Given the description of an element on the screen output the (x, y) to click on. 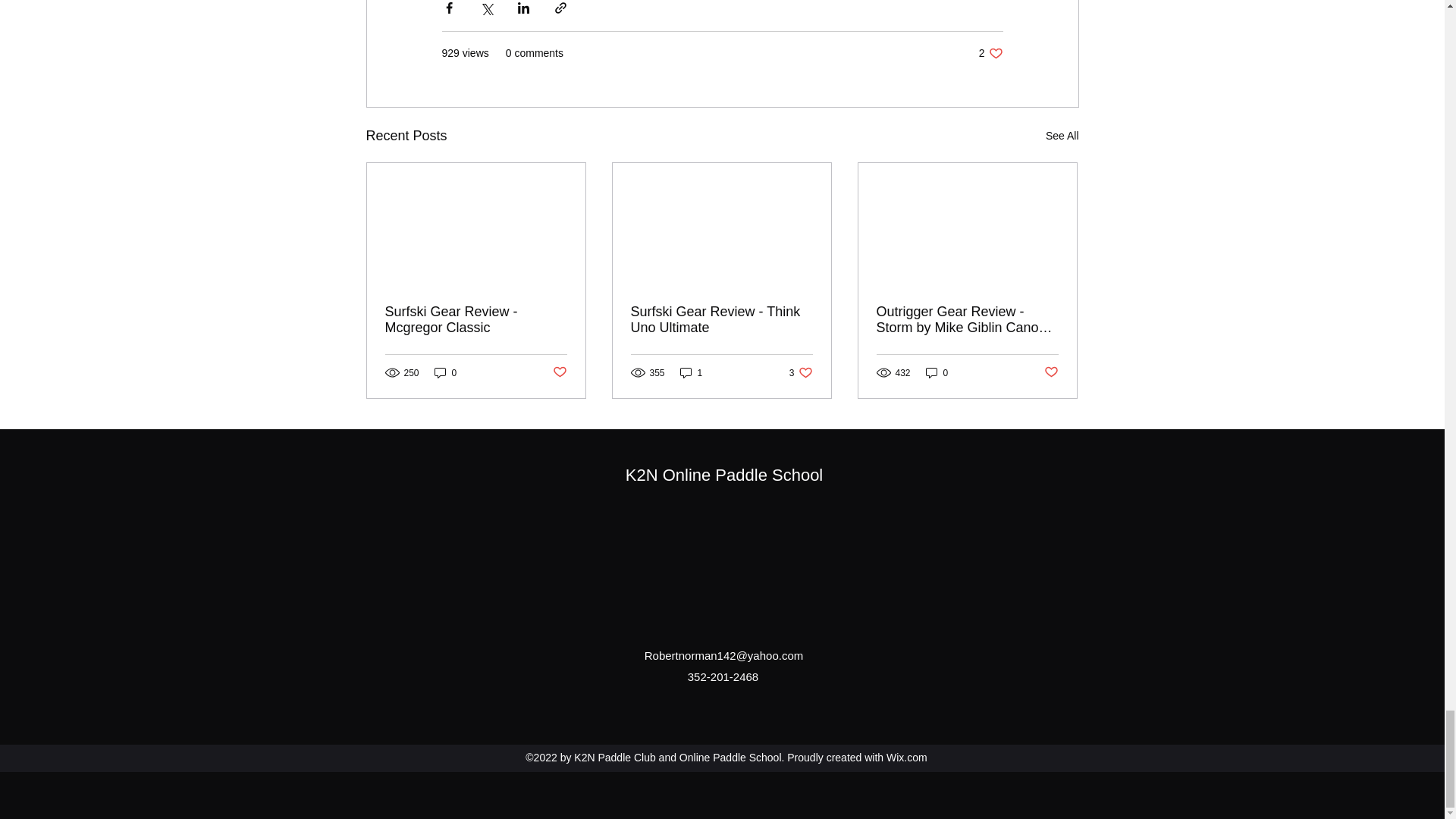
1 (691, 372)
Surfski Gear Review - Think Uno Ultimate (721, 319)
Post not marked as liked (558, 372)
Surfski Gear Review - Mcgregor Classic (476, 319)
0 (445, 372)
K2N Online Paddle School (725, 475)
See All (1061, 136)
Post not marked as liked (1050, 372)
0 (937, 372)
